Given the description of an element on the screen output the (x, y) to click on. 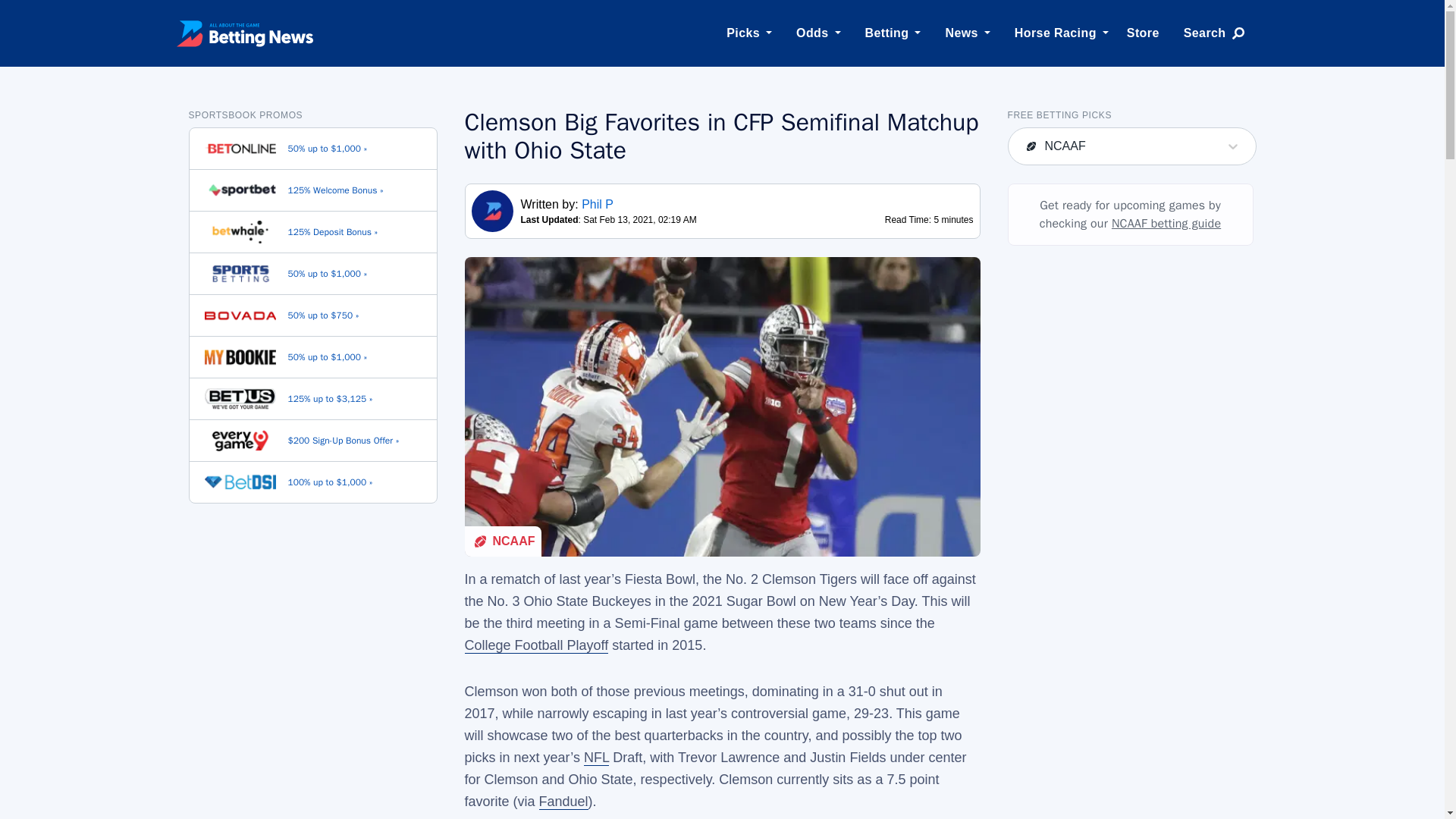
Picks (742, 33)
Betting News (244, 32)
Odds (812, 33)
Betting (887, 33)
